Given the description of an element on the screen output the (x, y) to click on. 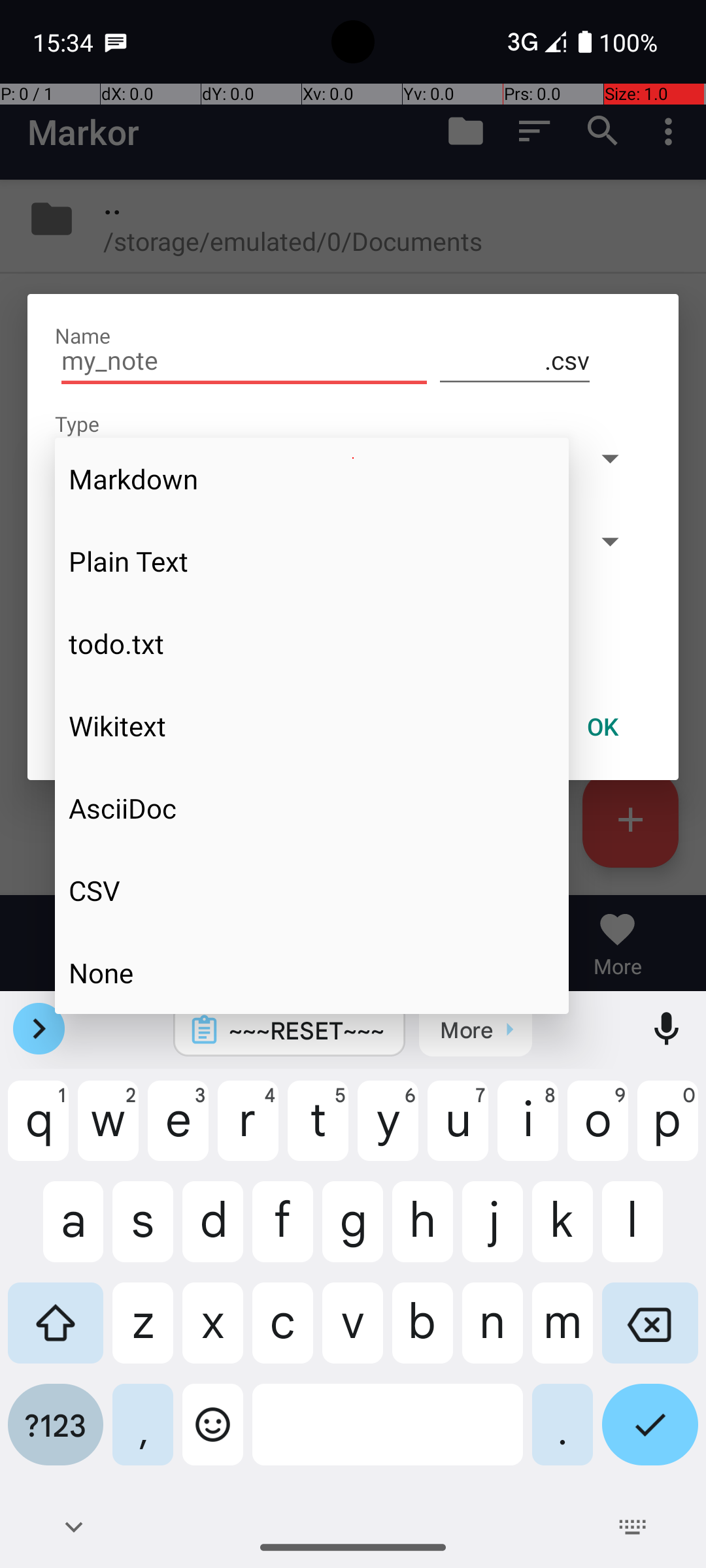
Plain Text Element type: android.widget.TextView (311, 561)
todo.txt Element type: android.widget.TextView (311, 643)
Wikitext Element type: android.widget.TextView (311, 725)
AsciiDoc Element type: android.widget.TextView (311, 808)
CSV Element type: android.widget.TextView (311, 890)
None Element type: android.widget.TextView (311, 972)
